Given the description of an element on the screen output the (x, y) to click on. 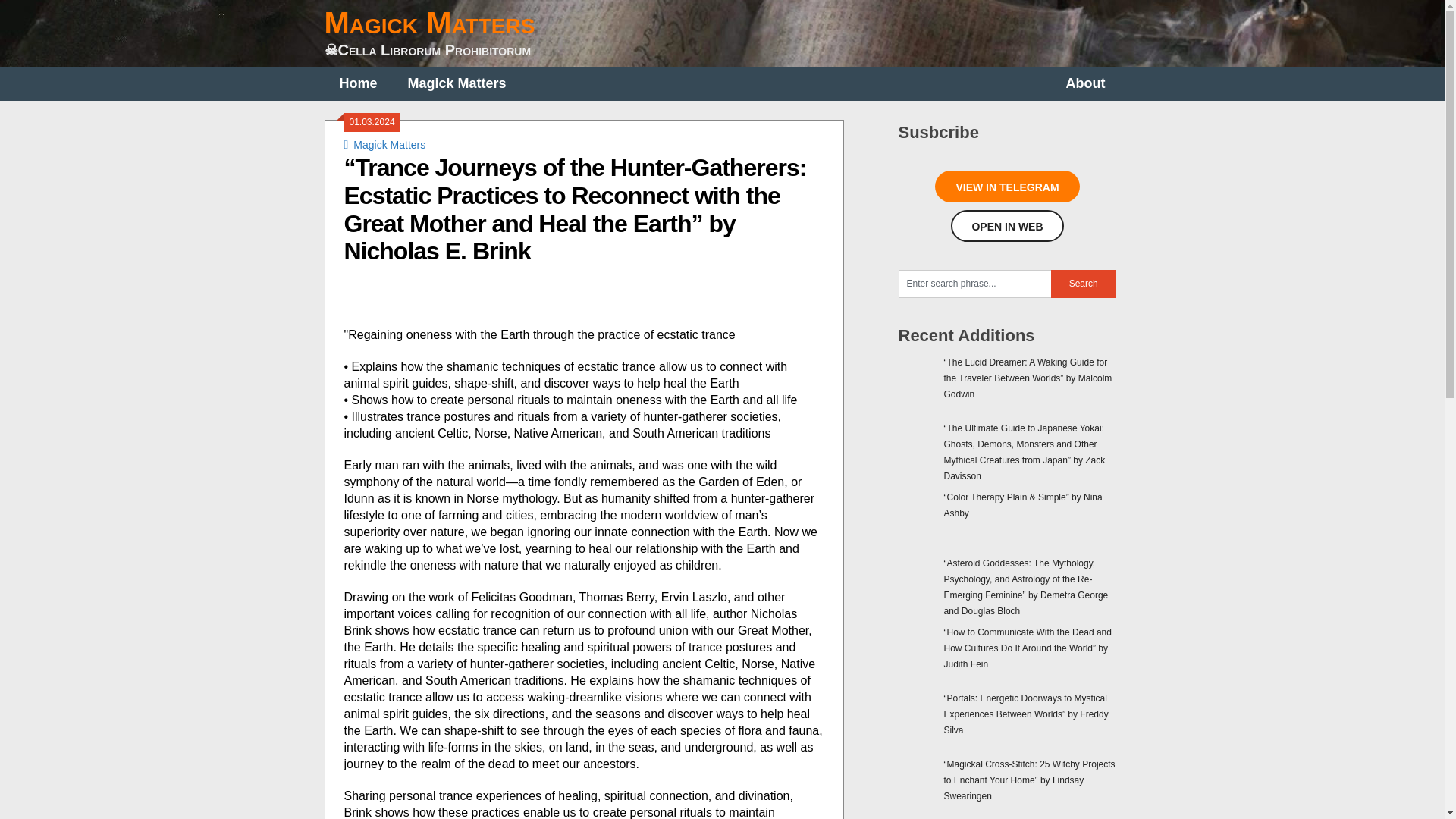
Search (1083, 284)
Magick Matters (457, 83)
Search (1083, 284)
Enter search phrase... (974, 284)
OPEN IN WEB (1006, 225)
About (1086, 83)
Magick Matters (429, 22)
Home (358, 83)
Magick Matters (389, 144)
